Given the description of an element on the screen output the (x, y) to click on. 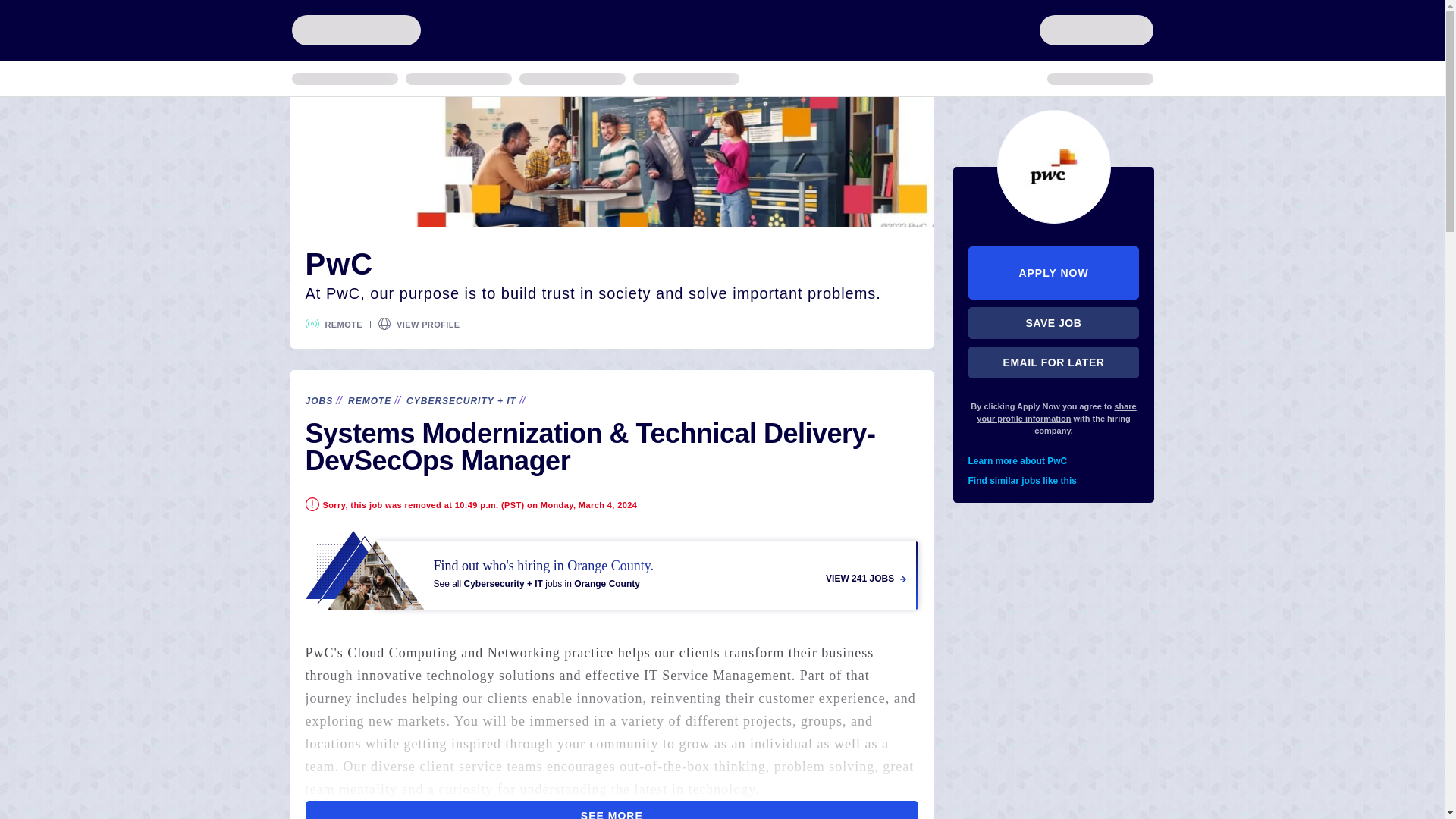
VIEW PROFILE (428, 325)
View 241 Jobs (611, 569)
JOBS (318, 400)
VIEW 241 JOBS (865, 578)
share your profile information (1055, 412)
REMOTE (369, 400)
Learn more about PwC (1054, 461)
Find similar jobs like this (1054, 481)
SAVE JOB (1054, 323)
